Given the description of an element on the screen output the (x, y) to click on. 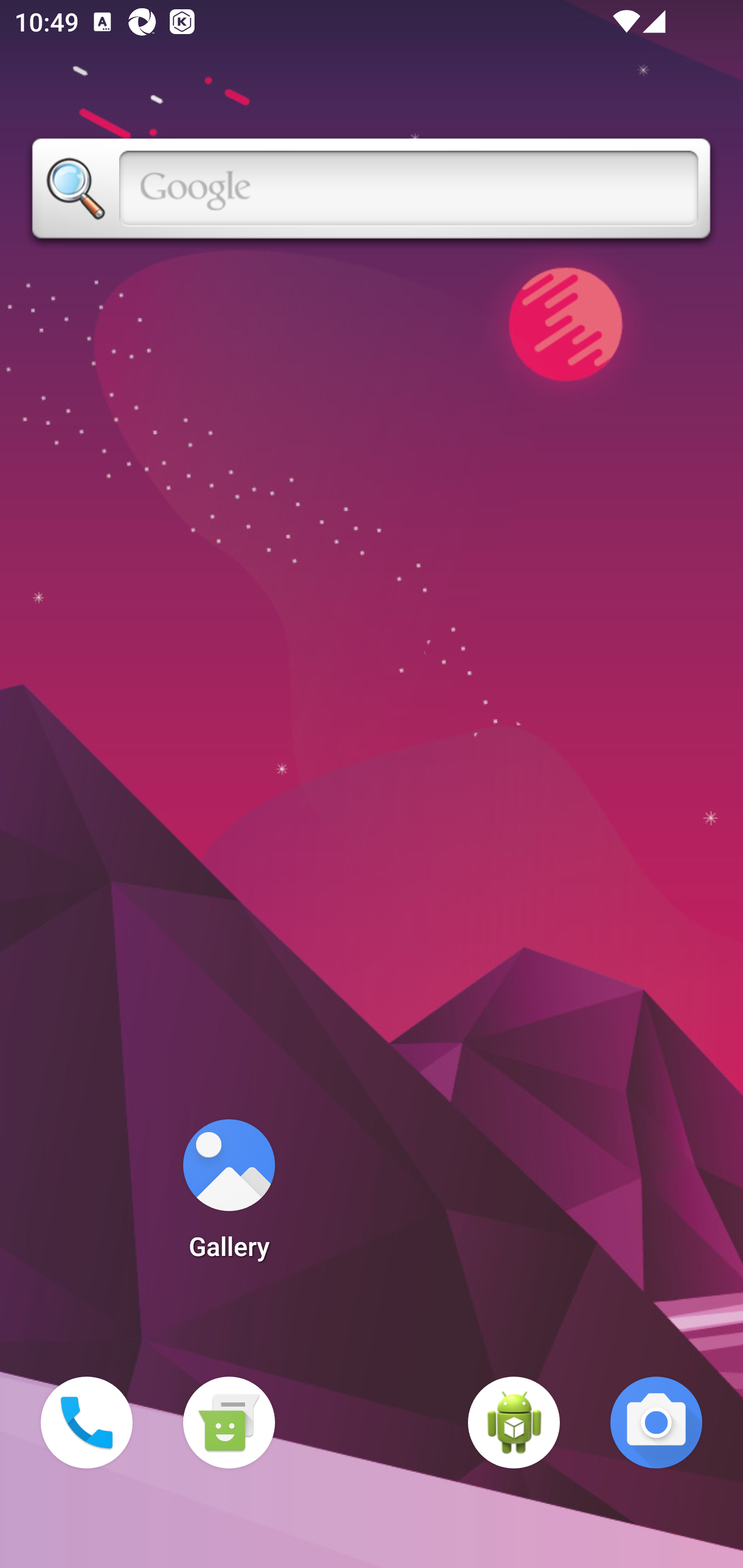
Gallery (228, 1195)
Phone (86, 1422)
Messaging (228, 1422)
WebView Browser Tester (513, 1422)
Camera (656, 1422)
